Given the description of an element on the screen output the (x, y) to click on. 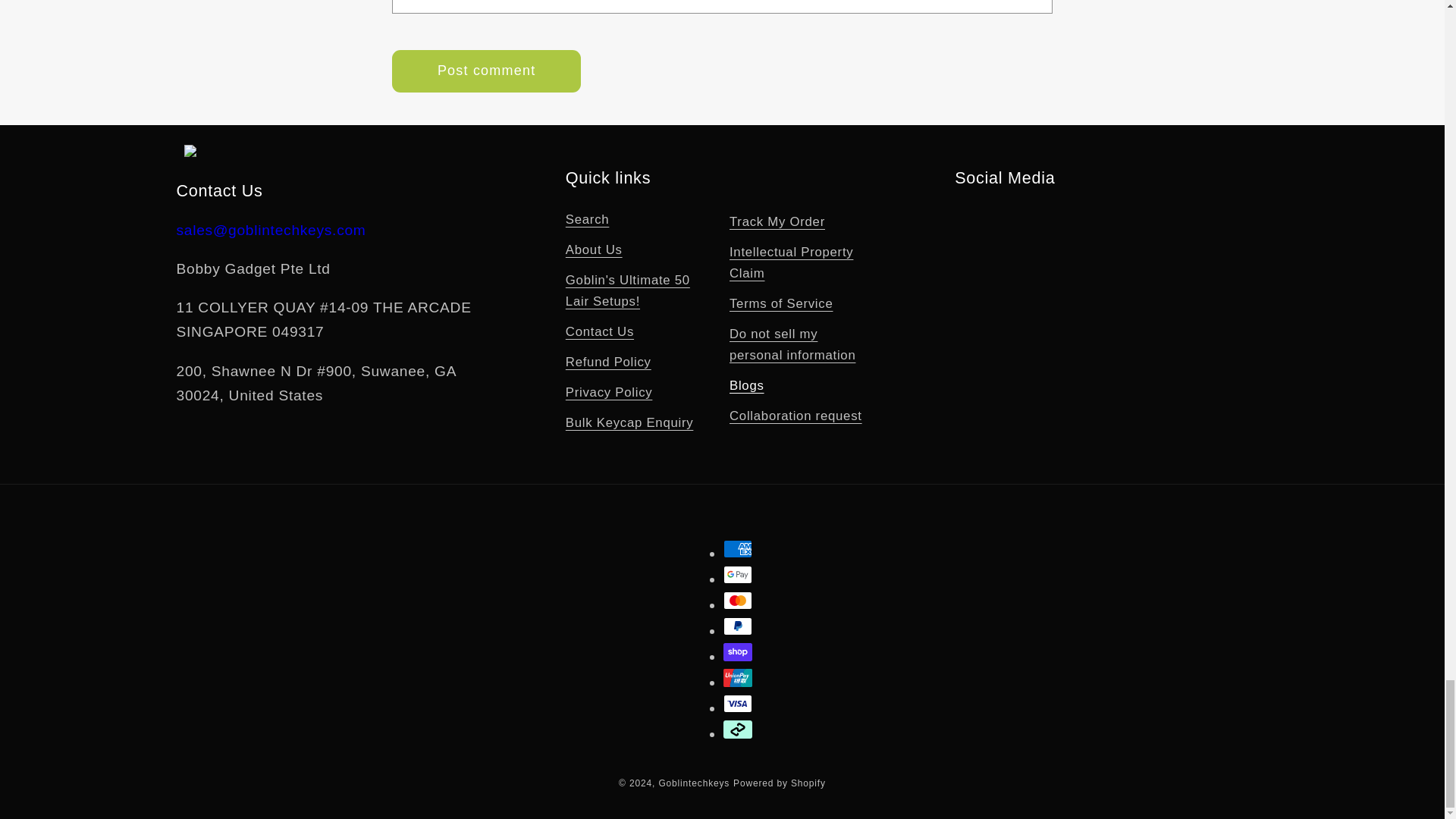
Shop Pay (737, 651)
PayPal (737, 626)
Visa (737, 703)
Post comment (485, 70)
American Express (737, 548)
Afterpay (737, 729)
Union Pay (737, 678)
Google Pay (737, 574)
Mastercard (737, 600)
